Given the description of an element on the screen output the (x, y) to click on. 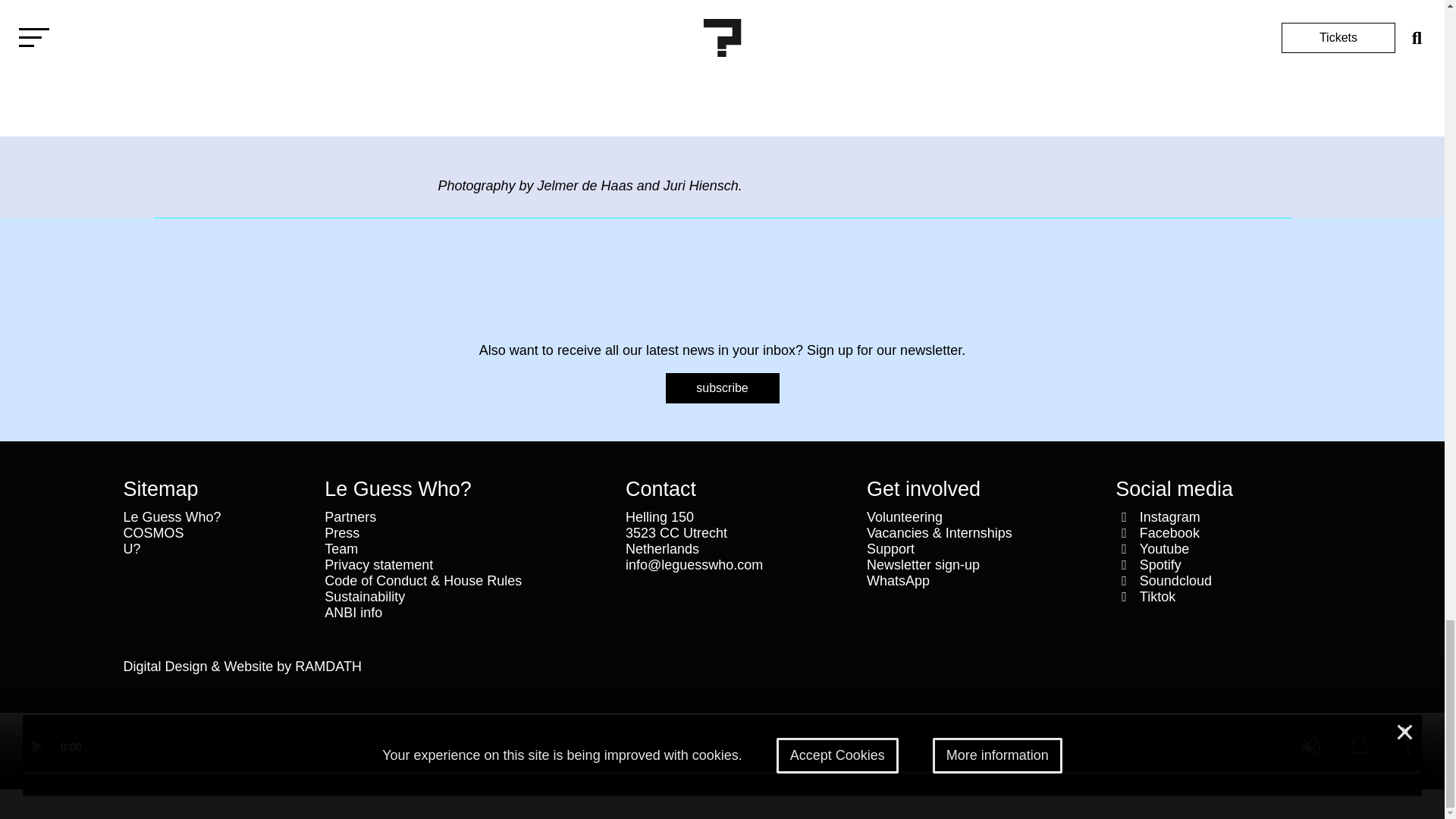
U? (215, 549)
subscribe (721, 388)
COSMOS (215, 533)
YouTube video player (722, 77)
Le Guess Who? (215, 517)
